Given the description of an element on the screen output the (x, y) to click on. 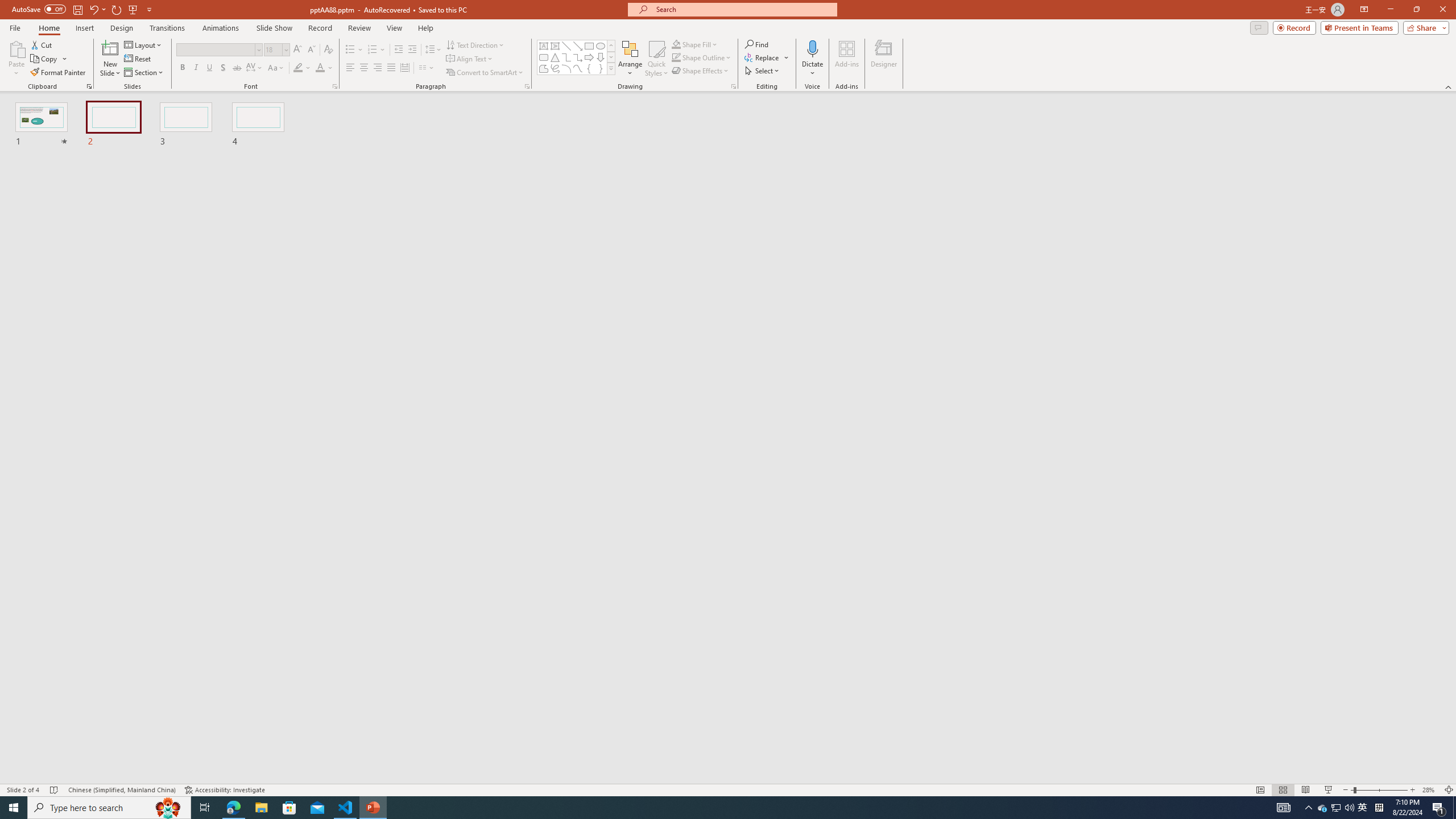
Shape Effects (700, 69)
Connector: Elbow (566, 57)
Reset (138, 58)
Font Color Red (320, 67)
